Given the description of an element on the screen output the (x, y) to click on. 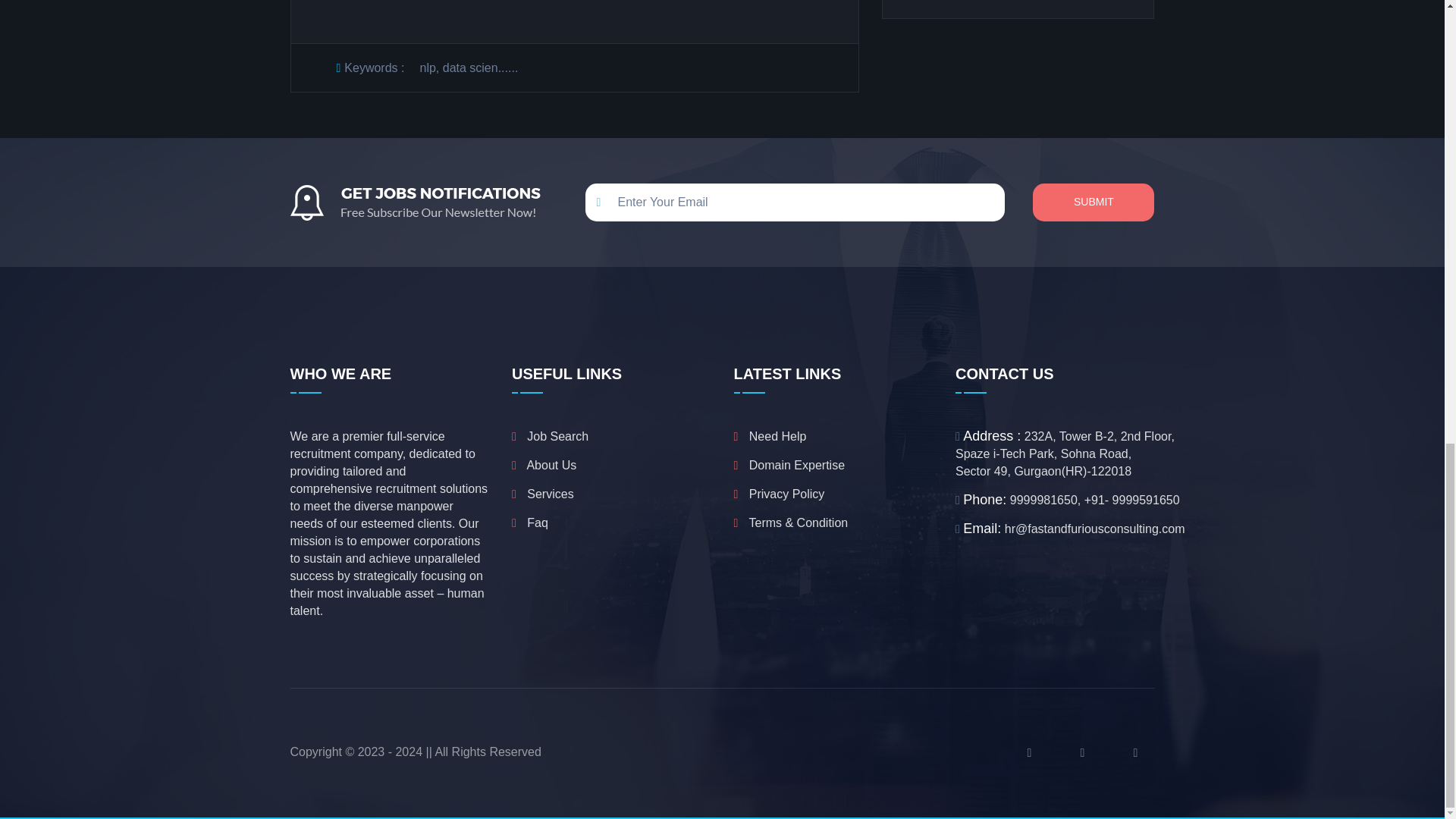
Domain Expertise (789, 465)
SUBMIT (1093, 202)
Job Search (550, 436)
Faq (530, 522)
Services (542, 493)
About Us (544, 465)
Need Help (769, 436)
Privacy Policy (779, 493)
